Given the description of an element on the screen output the (x, y) to click on. 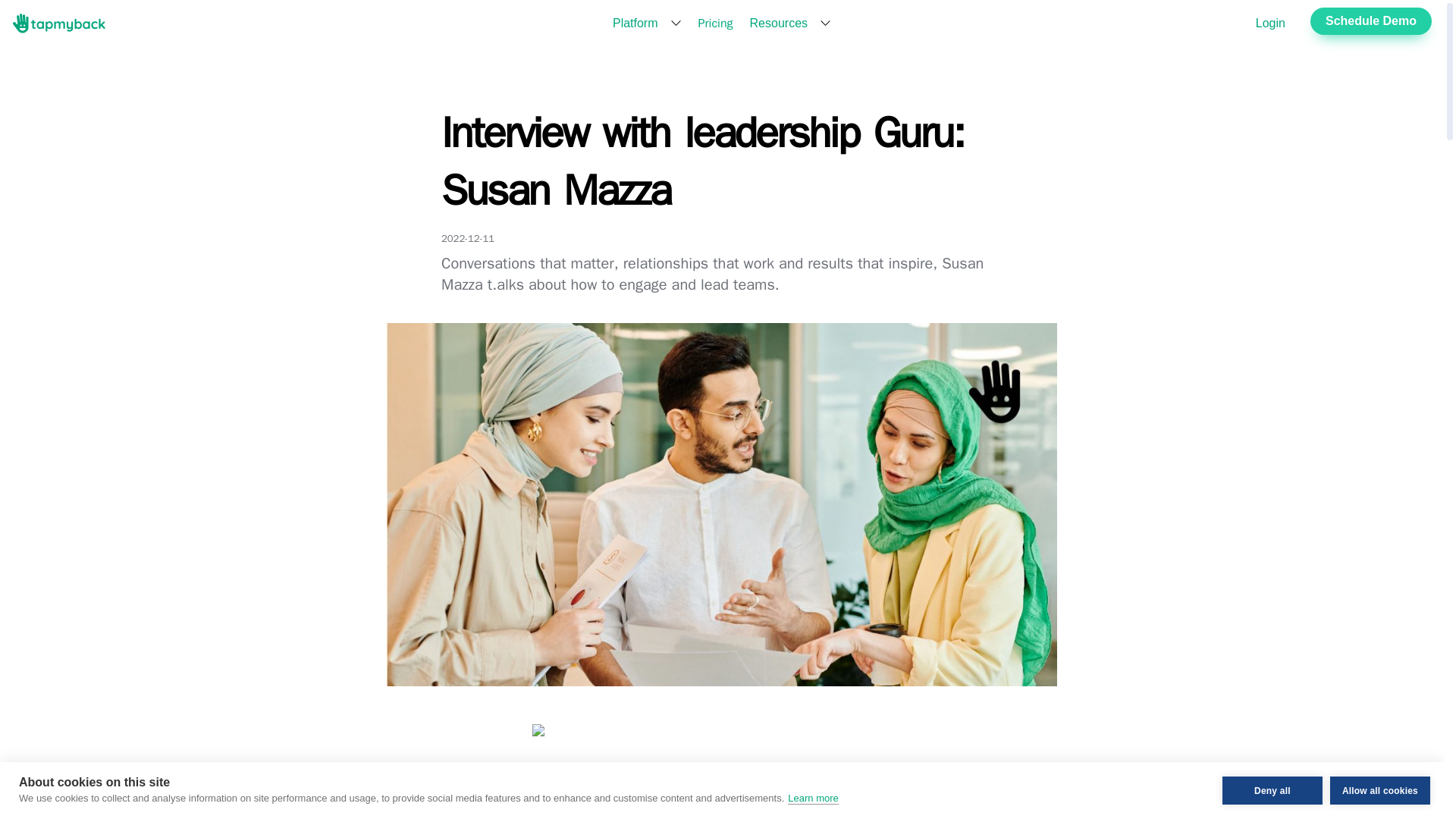
Resources (778, 22)
Allow all cookies (1379, 812)
Login (1270, 22)
Platform (635, 22)
Schedule Demo (1370, 21)
Pricing (715, 22)
